Given the description of an element on the screen output the (x, y) to click on. 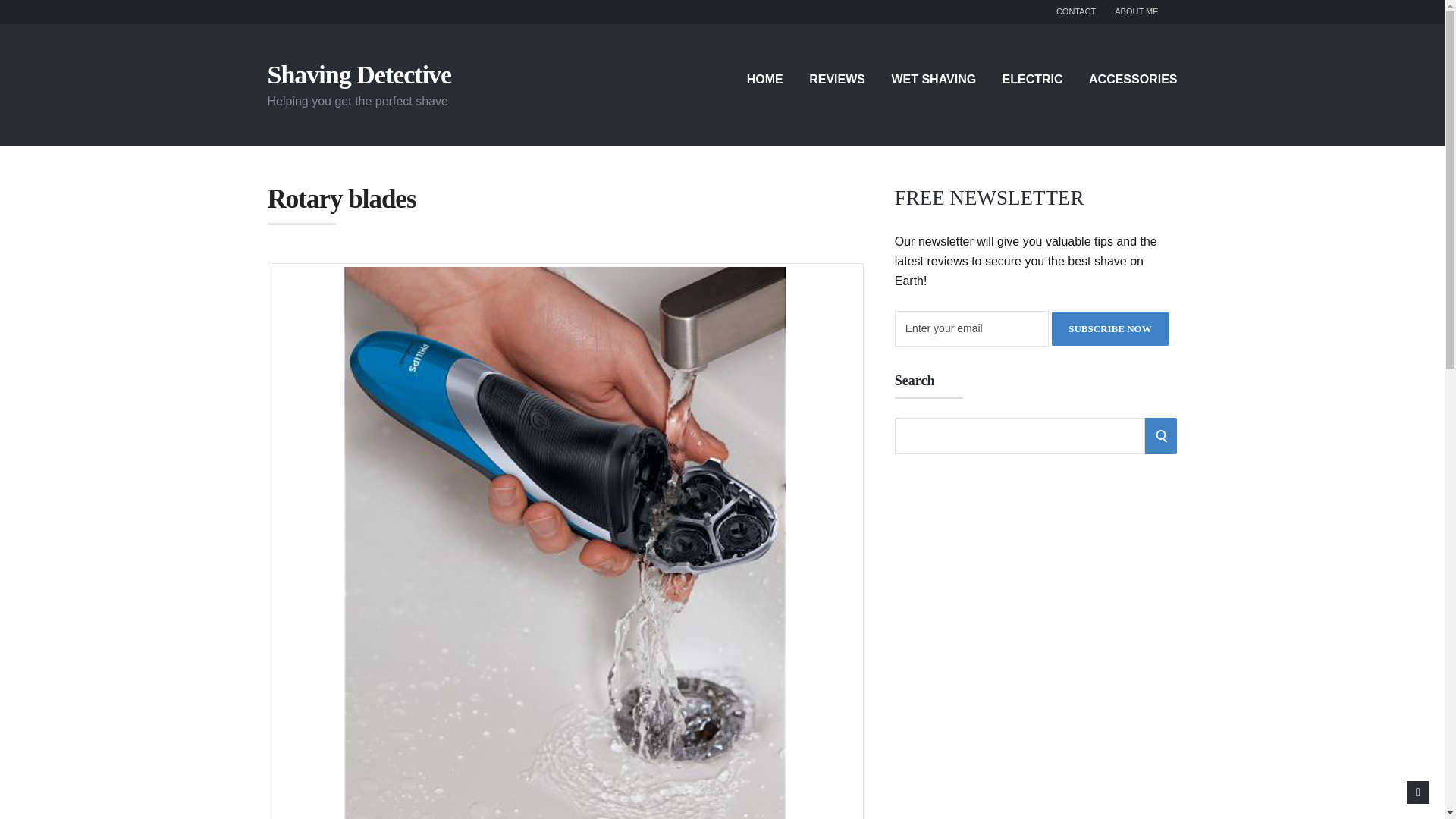
ELECTRIC (1032, 79)
ACCESSORIES (1132, 79)
Enter your email (971, 329)
HOME (764, 79)
REVIEWS (836, 79)
Advertisement (989, 575)
Subscribe now (1109, 328)
CONTACT (1076, 11)
WET SHAVING (933, 79)
ABOUT ME (1136, 11)
Subscribe now (1109, 328)
Shaving Detective (358, 74)
